Given the description of an element on the screen output the (x, y) to click on. 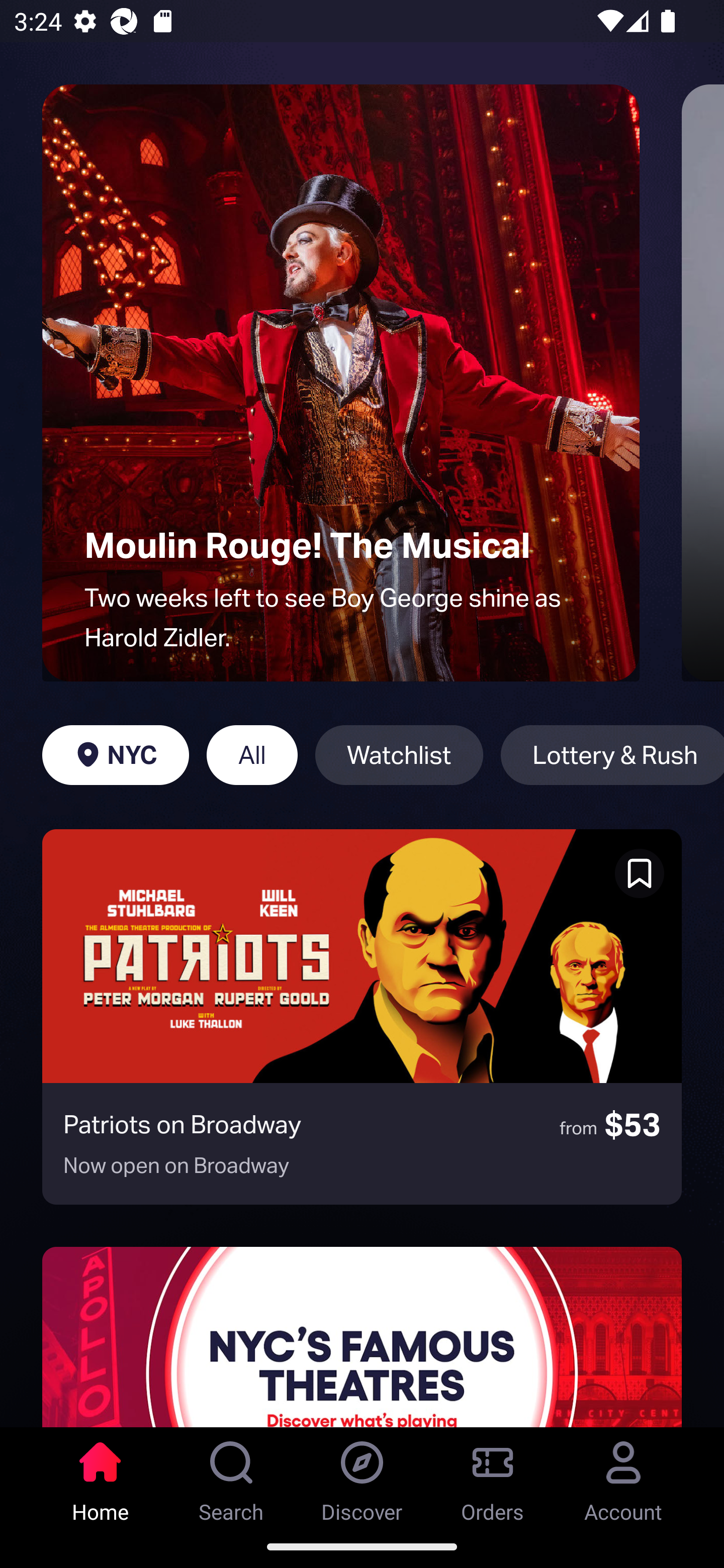
NYC (114, 754)
All (251, 754)
Watchlist (398, 754)
Lottery & Rush (612, 754)
Patriots on Broadway from $53 Now open on Broadway (361, 1016)
Search (230, 1475)
Discover (361, 1475)
Orders (492, 1475)
Account (623, 1475)
